Given the description of an element on the screen output the (x, y) to click on. 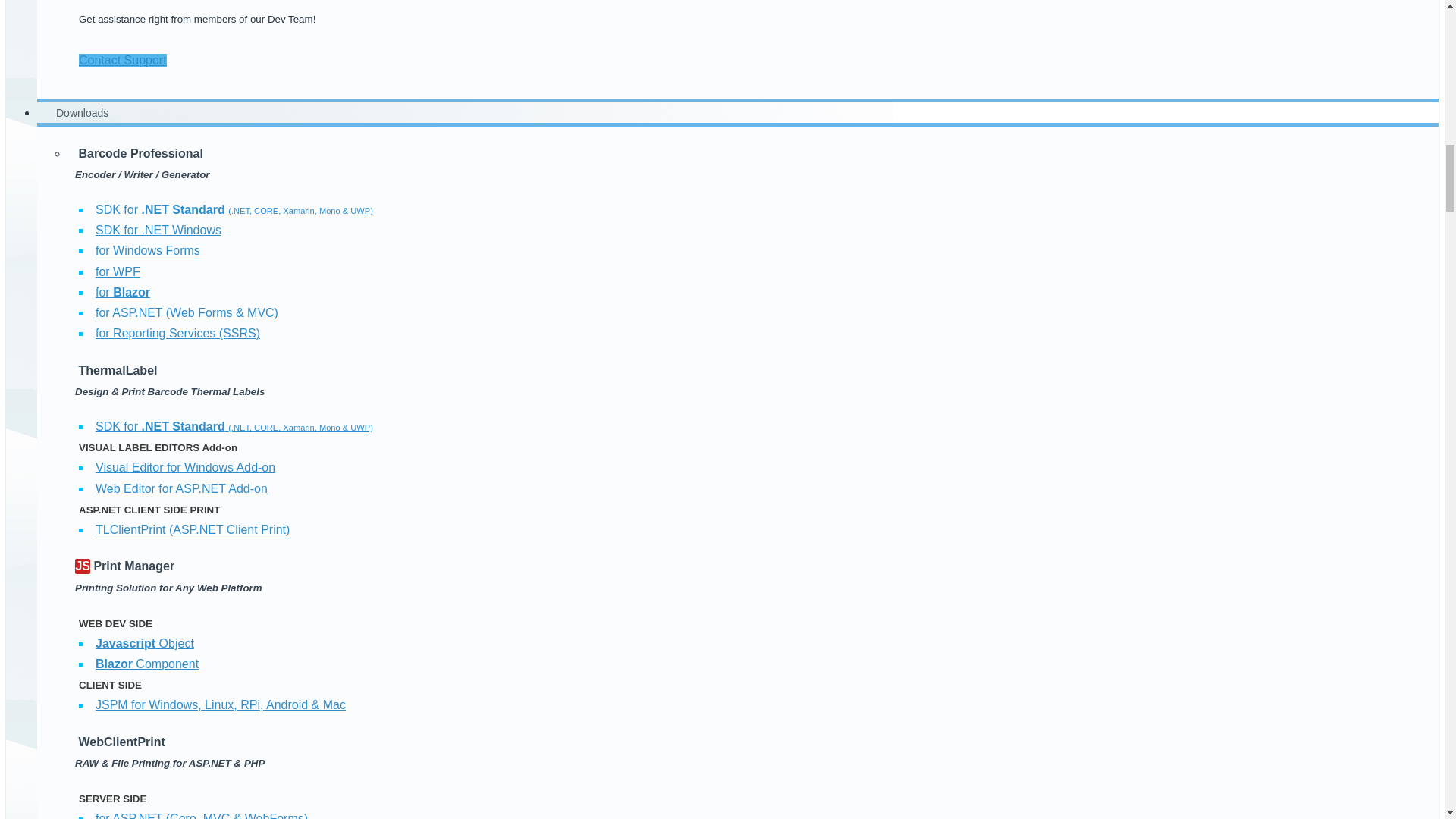
Contact Support (122, 60)
SDK for .NET Windows (158, 229)
for Windows Forms (148, 250)
Downloads (82, 112)
